Given the description of an element on the screen output the (x, y) to click on. 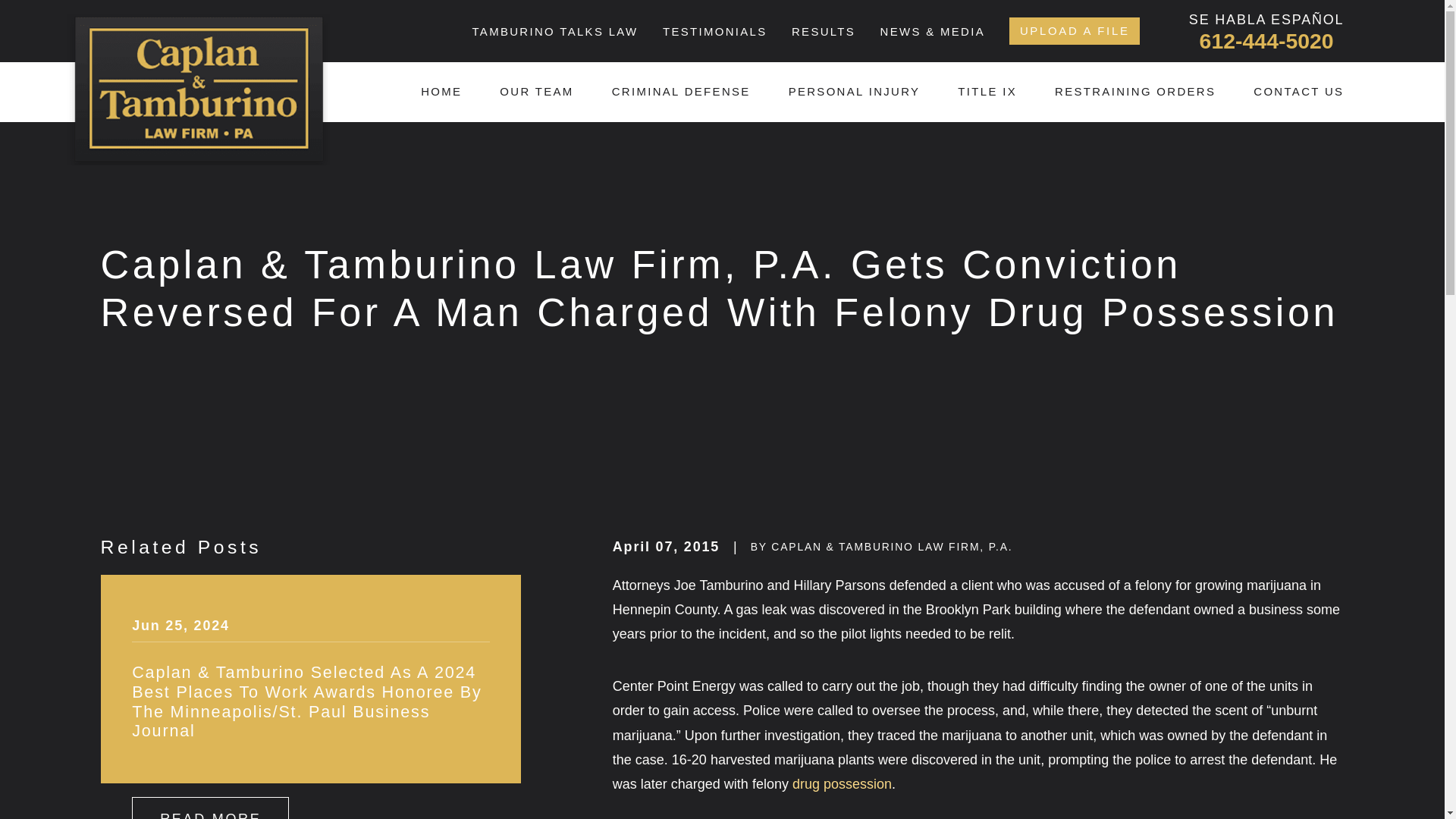
612-444-5020 (1266, 40)
TESTIMONIALS (714, 31)
TAMBURINO TALKS LAW (554, 31)
OUR TEAM (536, 91)
Home (198, 89)
HOME (440, 91)
UPLOAD A FILE (1074, 31)
RESULTS (824, 31)
CRIMINAL DEFENSE (681, 91)
